Given the description of an element on the screen output the (x, y) to click on. 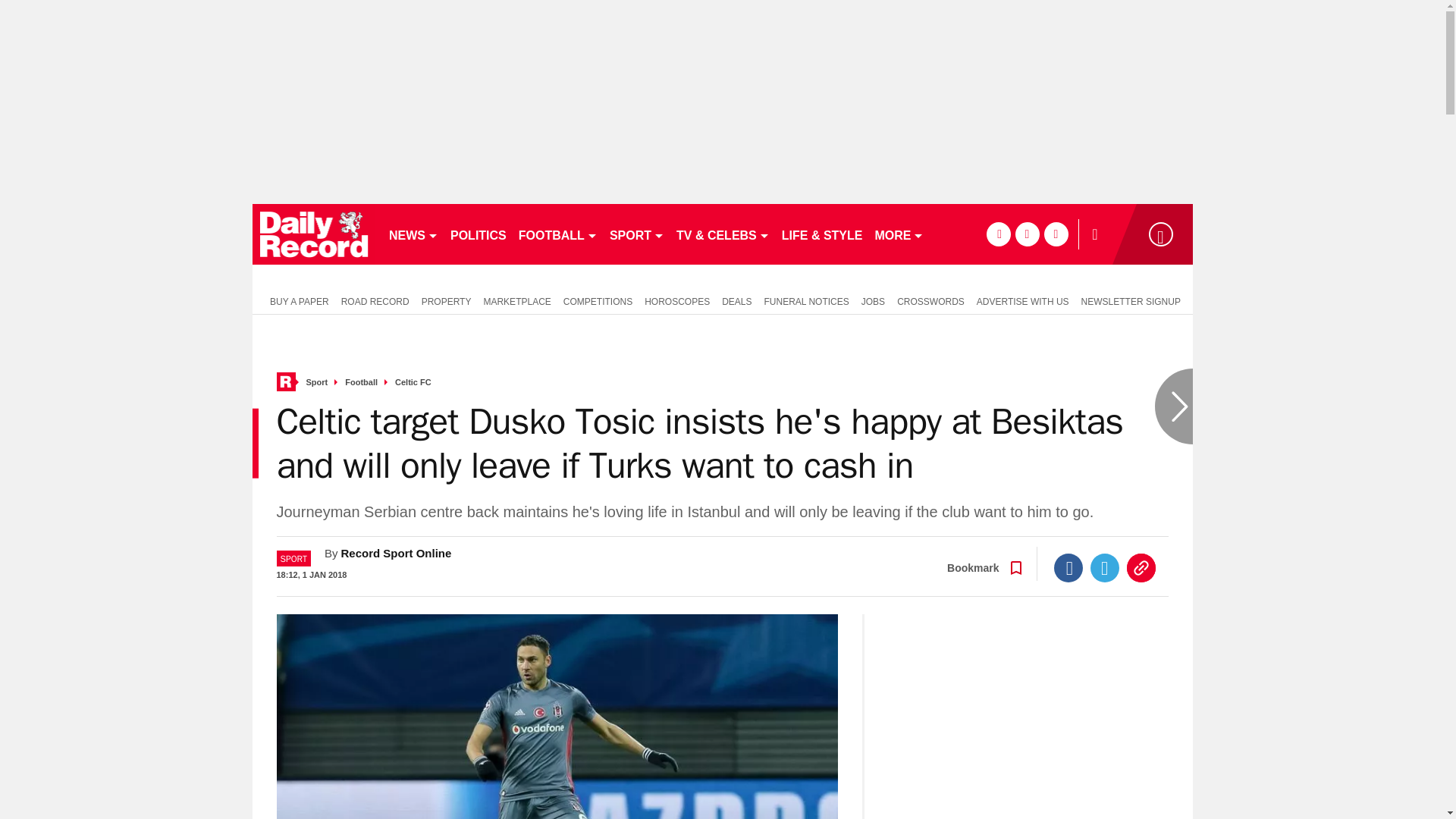
twitter (1026, 233)
SPORT (636, 233)
Facebook (1068, 567)
facebook (997, 233)
instagram (1055, 233)
POLITICS (478, 233)
dailyrecord (313, 233)
Twitter (1104, 567)
NEWS (413, 233)
FOOTBALL (558, 233)
